Given the description of an element on the screen output the (x, y) to click on. 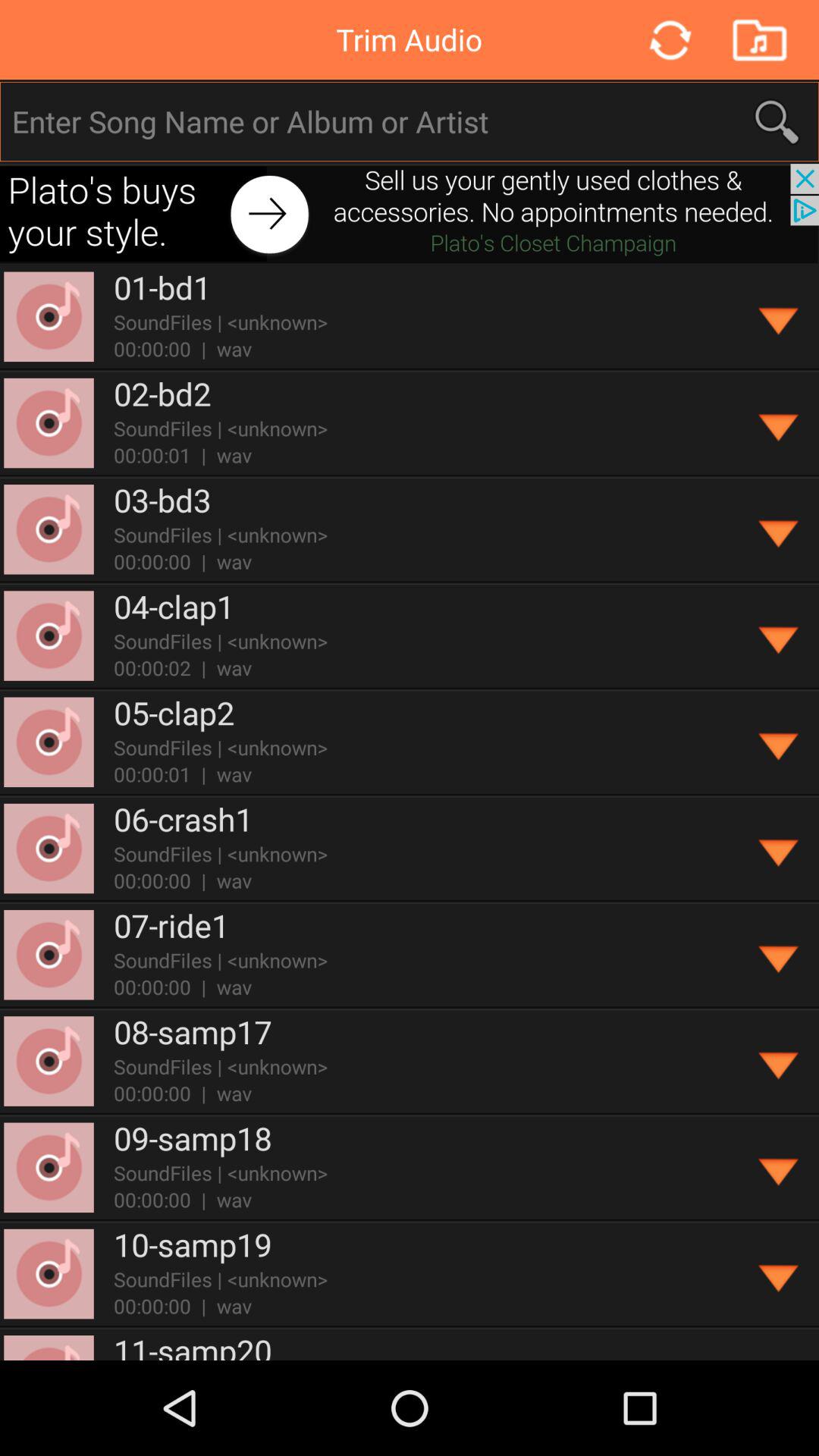
go to search (409, 121)
